Given the description of an element on the screen output the (x, y) to click on. 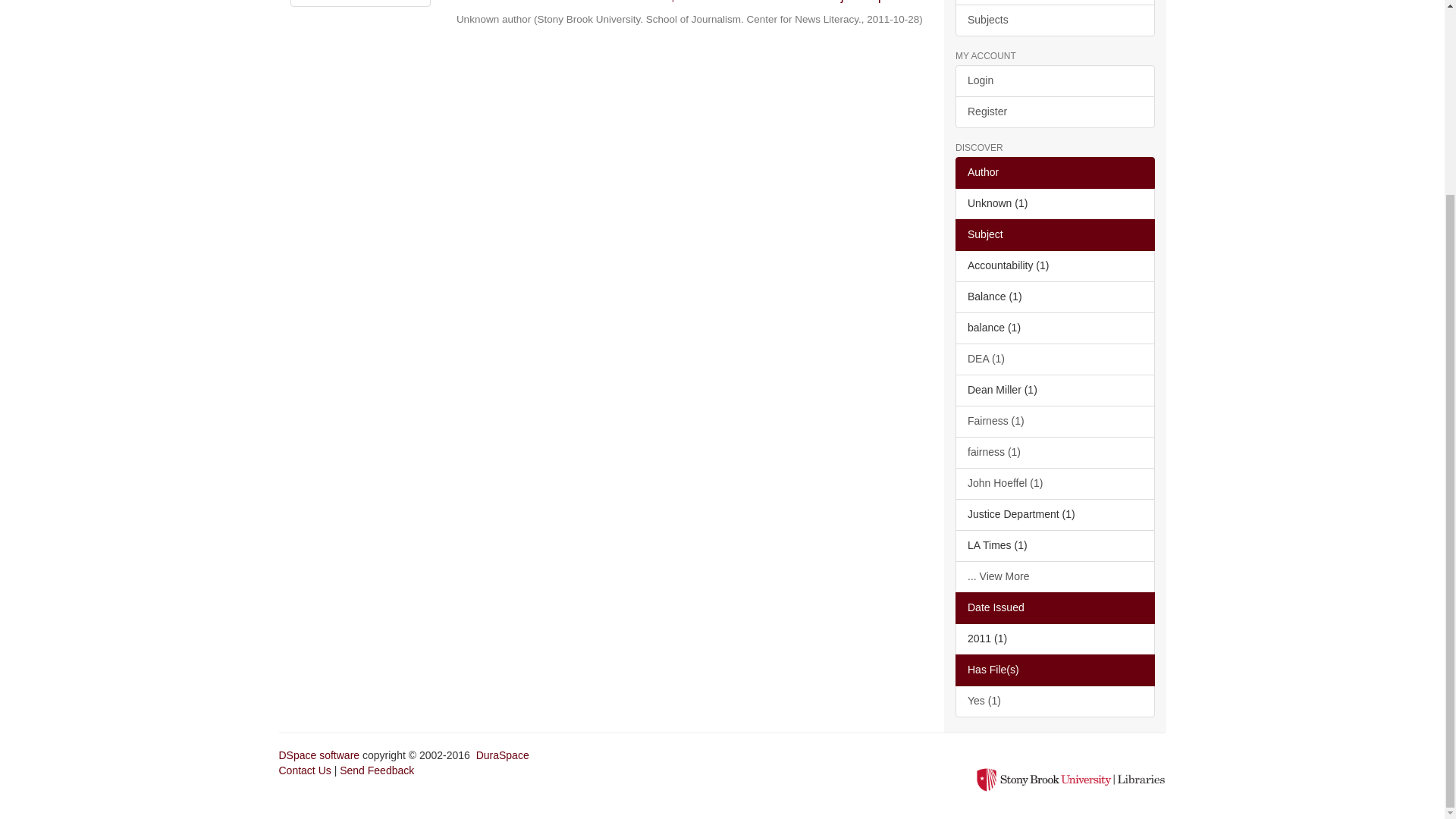
Stony Brook University Libraries (1070, 778)
